Given the description of an element on the screen output the (x, y) to click on. 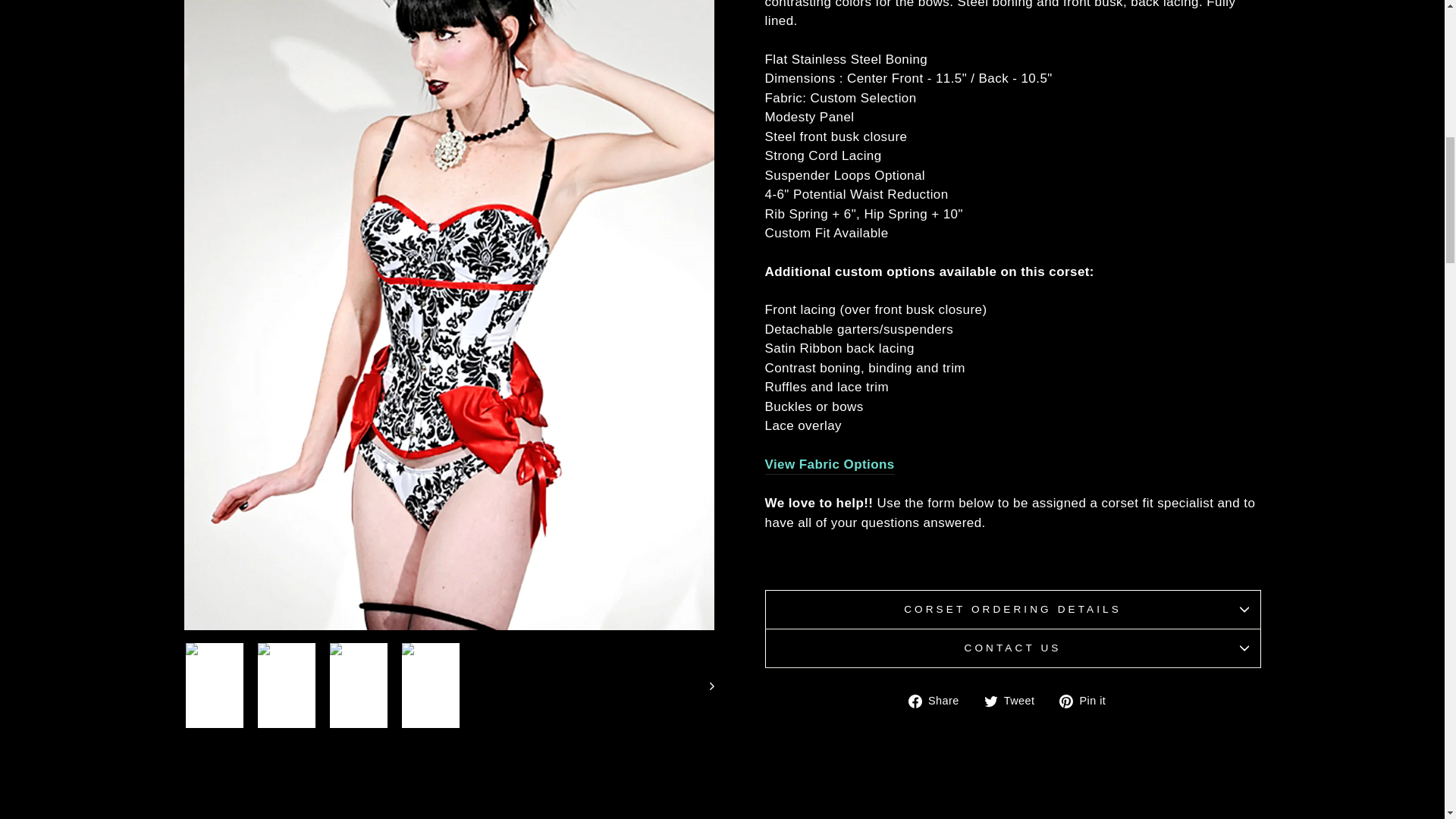
Share on Facebook (939, 700)
Versatile Corsets Custom Fabric Options (828, 465)
twitter (990, 701)
